Given the description of an element on the screen output the (x, y) to click on. 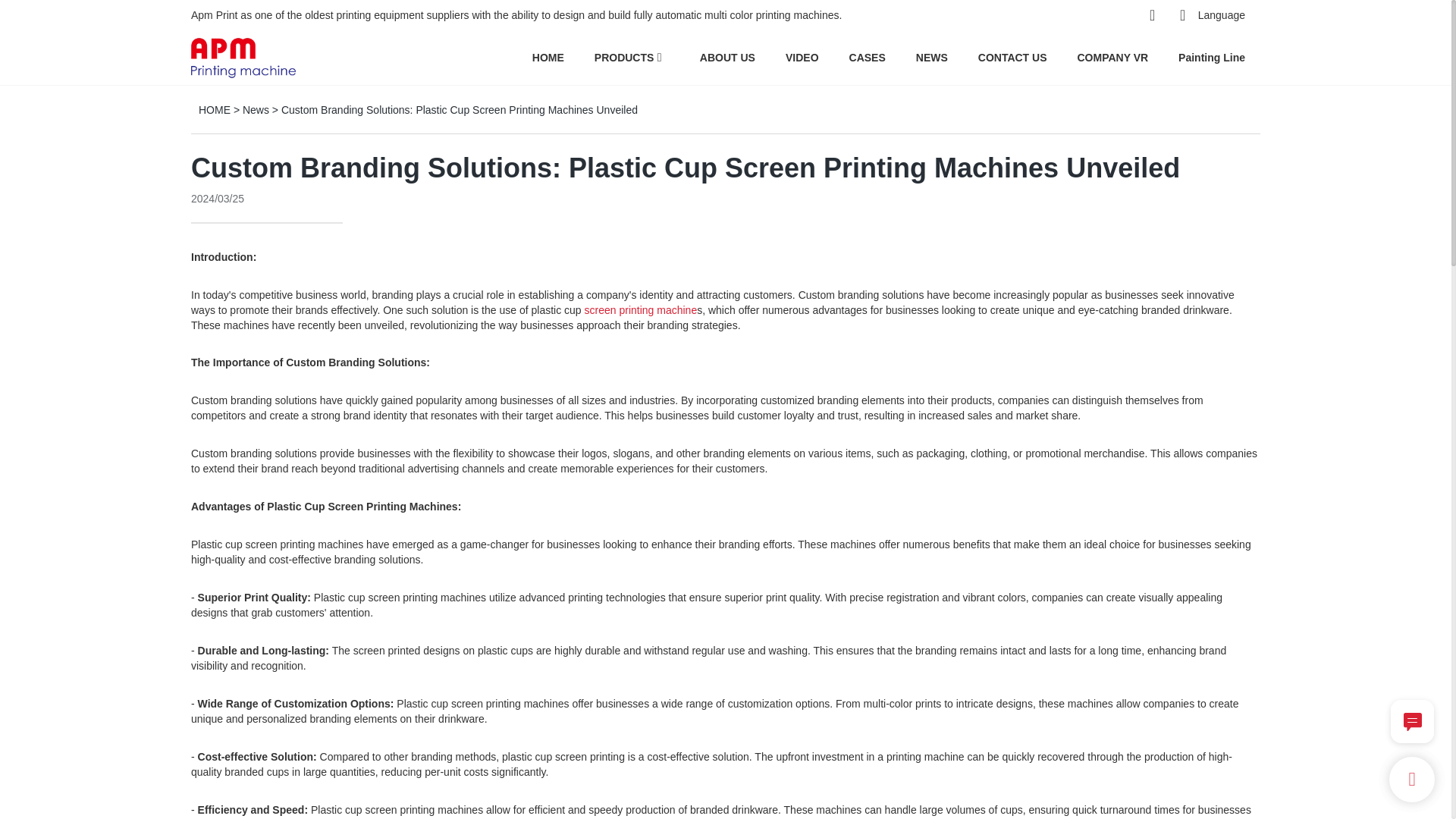
HOME (548, 57)
News (256, 110)
screen printing machine (641, 309)
VIDEO (802, 57)
Painting Line (1210, 57)
ABOUT US (727, 57)
screen printing machine (641, 309)
COMPANY VR (1112, 57)
PRODUCTS (623, 57)
